Given the description of an element on the screen output the (x, y) to click on. 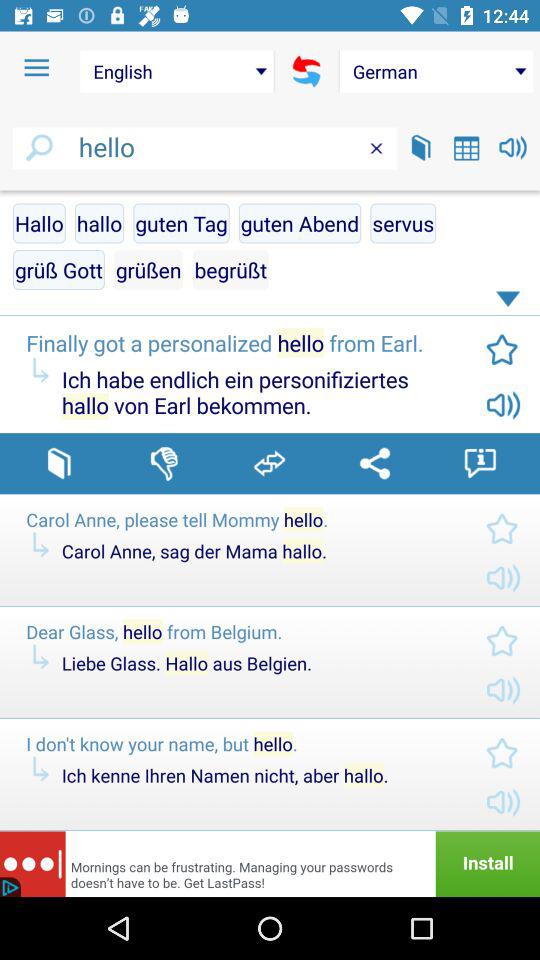
select item to the left of the english (36, 68)
